Given the description of an element on the screen output the (x, y) to click on. 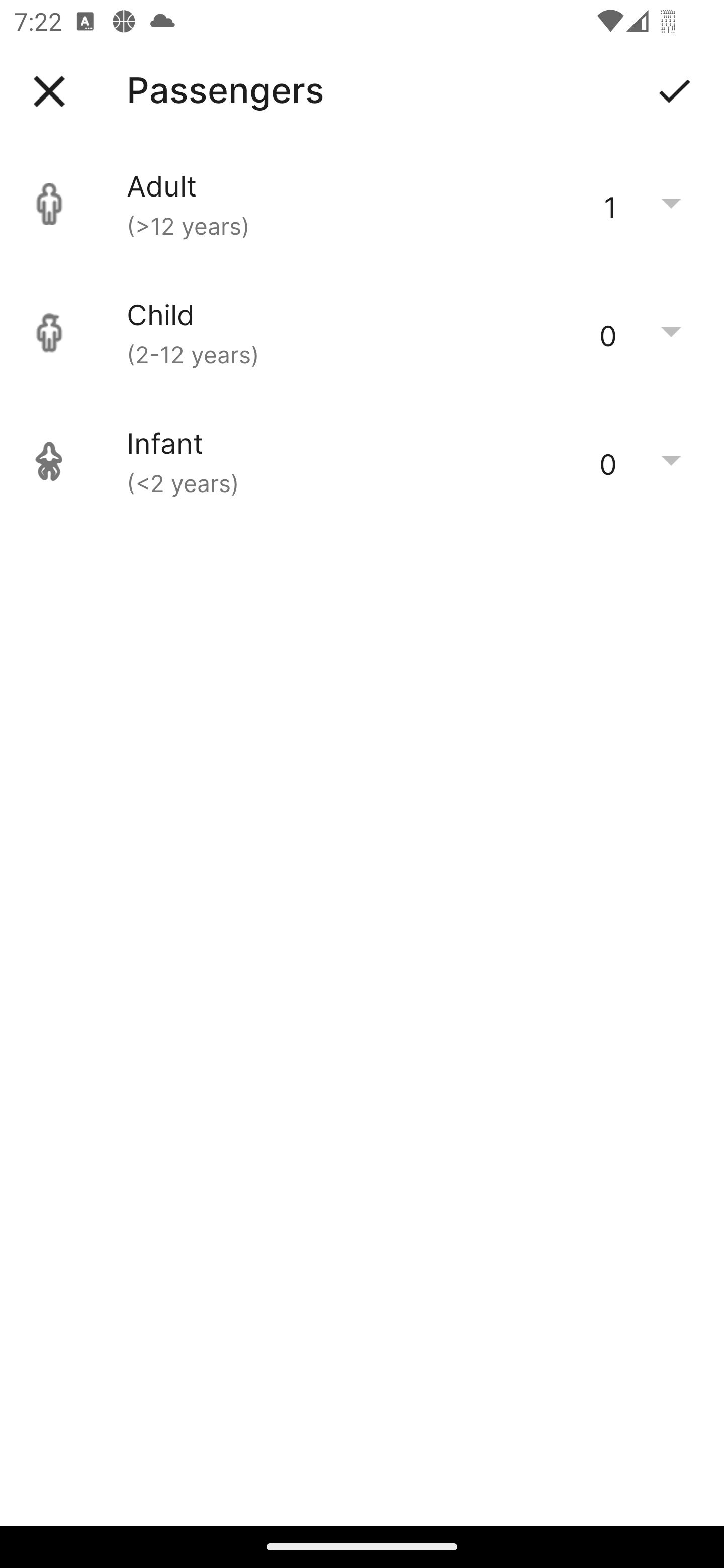
Adult (>12 years) 1 (362, 204)
Child (2-12 years) 0 (362, 332)
Infant (<2 years) 0 (362, 461)
